Given the description of an element on the screen output the (x, y) to click on. 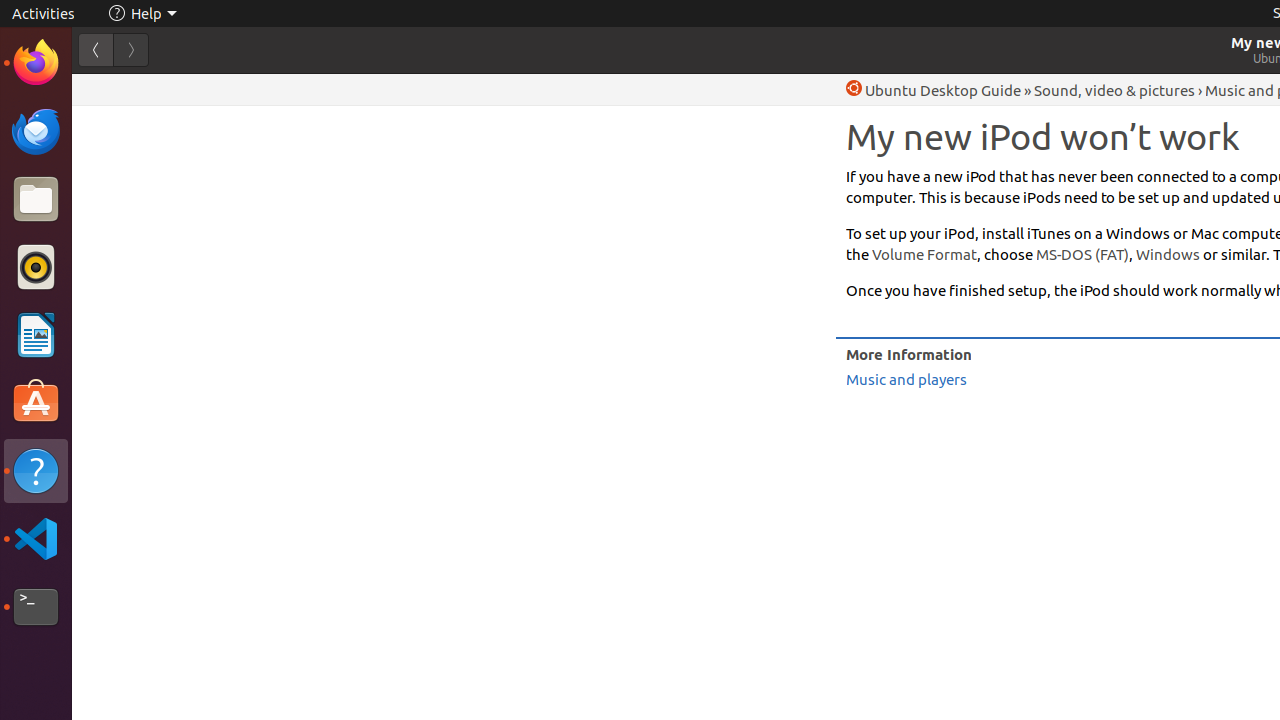
luyi1 Element type: label (133, 89)
Firefox Web Browser Element type: push-button (36, 63)
li.txt Element type: label (259, 89)
Trash Element type: label (133, 191)
